Given the description of an element on the screen output the (x, y) to click on. 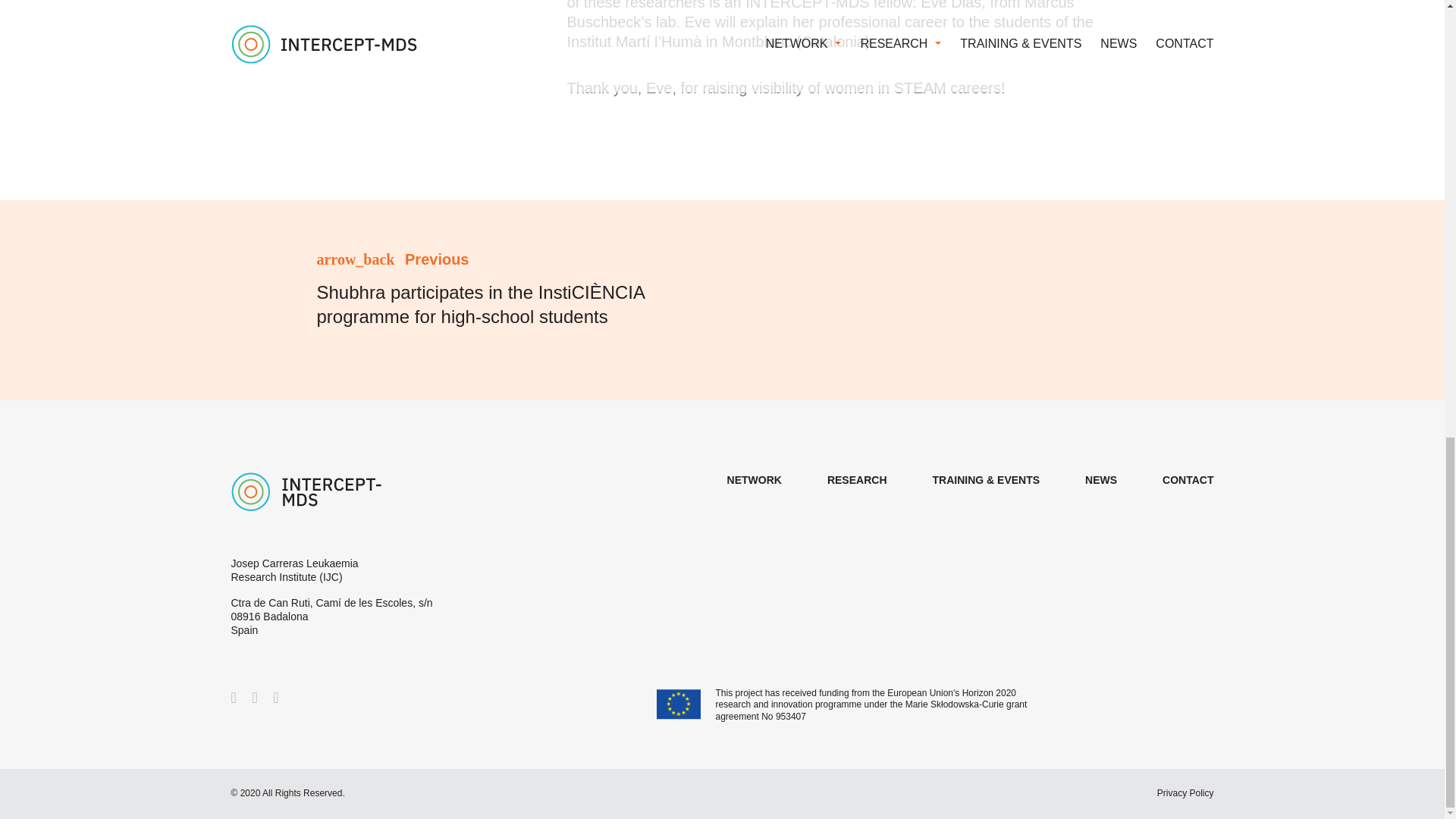
CONTACT (1186, 480)
Privacy Policy (1185, 792)
NEWS (1100, 480)
NETWORK (753, 480)
RESEARCH (856, 480)
